Given the description of an element on the screen output the (x, y) to click on. 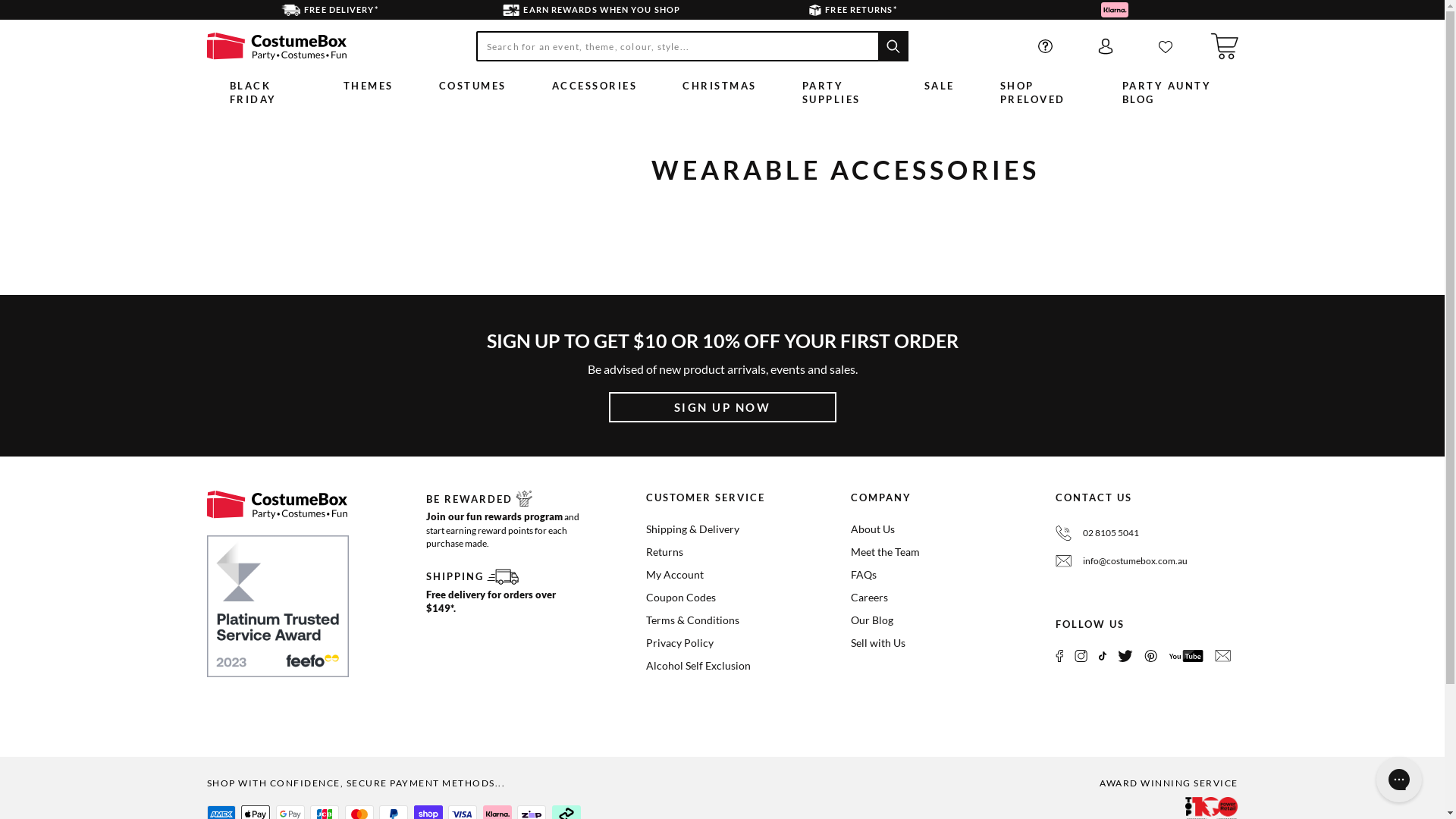
Terms & Conditions Element type: text (692, 619)
EARN REWARDS WHEN YOU SHOP Element type: text (591, 9)
info@costumebox.com.au Element type: text (1134, 560)
Wishlist Element type: text (1165, 45)
SIGN UP NOW Element type: text (721, 407)
02 8105 5041 Element type: text (1110, 532)
FREE DELIVERY* Element type: text (329, 9)
Free delivery for orders over $149*. Element type: text (490, 601)
PARTY SUPPLIES Element type: text (840, 95)
Youtube
YouTube Element type: text (1185, 654)
Facebook
Facebook Element type: text (1059, 654)
Gorgias live chat messenger Element type: hover (1398, 779)
Instagram
Instagram Element type: text (1080, 654)
Sell with Us Element type: text (877, 642)
BLACK FRIDAY Element type: text (263, 95)
Twitter Element type: text (1124, 654)
FREE RETURNS* Element type: text (852, 9)
Shipping & Delivery Element type: text (692, 528)
SHOP PRELOVED Element type: text (1038, 95)
Visit home page of CostumeBox Australia Element type: hover (276, 503)
Email Element type: text (1222, 654)
Meet the Team Element type: text (884, 551)
Returns Element type: text (664, 551)
SALE Element type: text (939, 88)
Tiktok
Tiktok Element type: text (1102, 654)
Help Element type: text (1044, 45)
Privacy Policy Element type: text (679, 642)
Alcohol Self Exclusion Element type: text (698, 664)
THEMES Element type: text (368, 88)
PARTY AUNTY BLOG Element type: text (1168, 95)
About Us Element type: text (872, 528)
Careers Element type: text (869, 596)
ACCESSORIES Element type: text (594, 88)
Pinterest
Pinterest Element type: text (1150, 654)
My account Element type: text (1105, 44)
FAQs Element type: text (863, 573)
My Account Element type: text (674, 573)
COSTUMES Element type: text (472, 88)
Join our fun rewards program Element type: text (494, 516)
CHRISTMAS Element type: text (719, 88)
Our Blog Element type: text (871, 619)
Coupon Codes Element type: text (680, 596)
Search
Search Element type: text (893, 46)
